Given the description of an element on the screen output the (x, y) to click on. 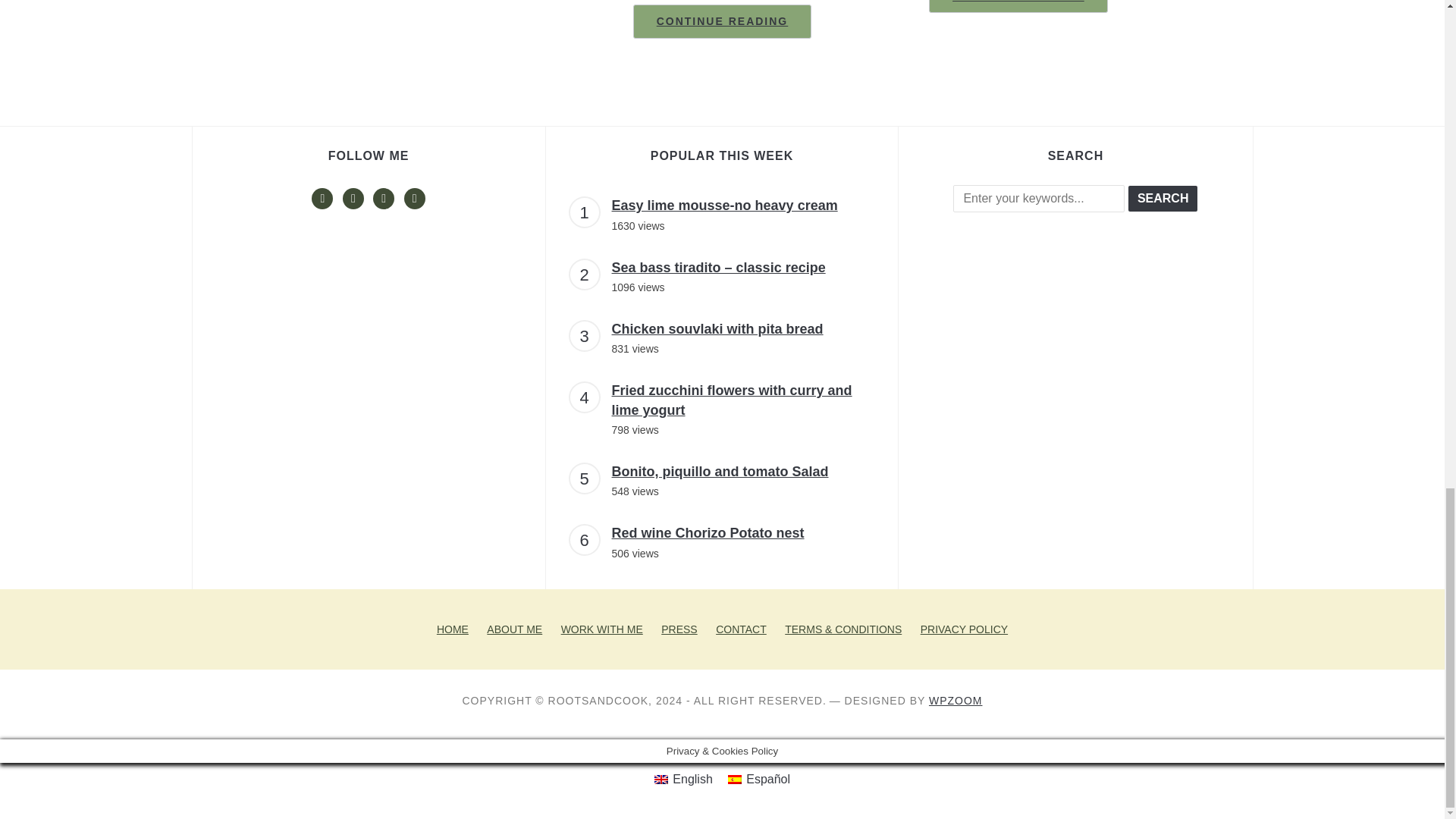
Permalink to Easy French Toast (1018, 6)
Search (1163, 198)
Search (1163, 198)
